Given the description of an element on the screen output the (x, y) to click on. 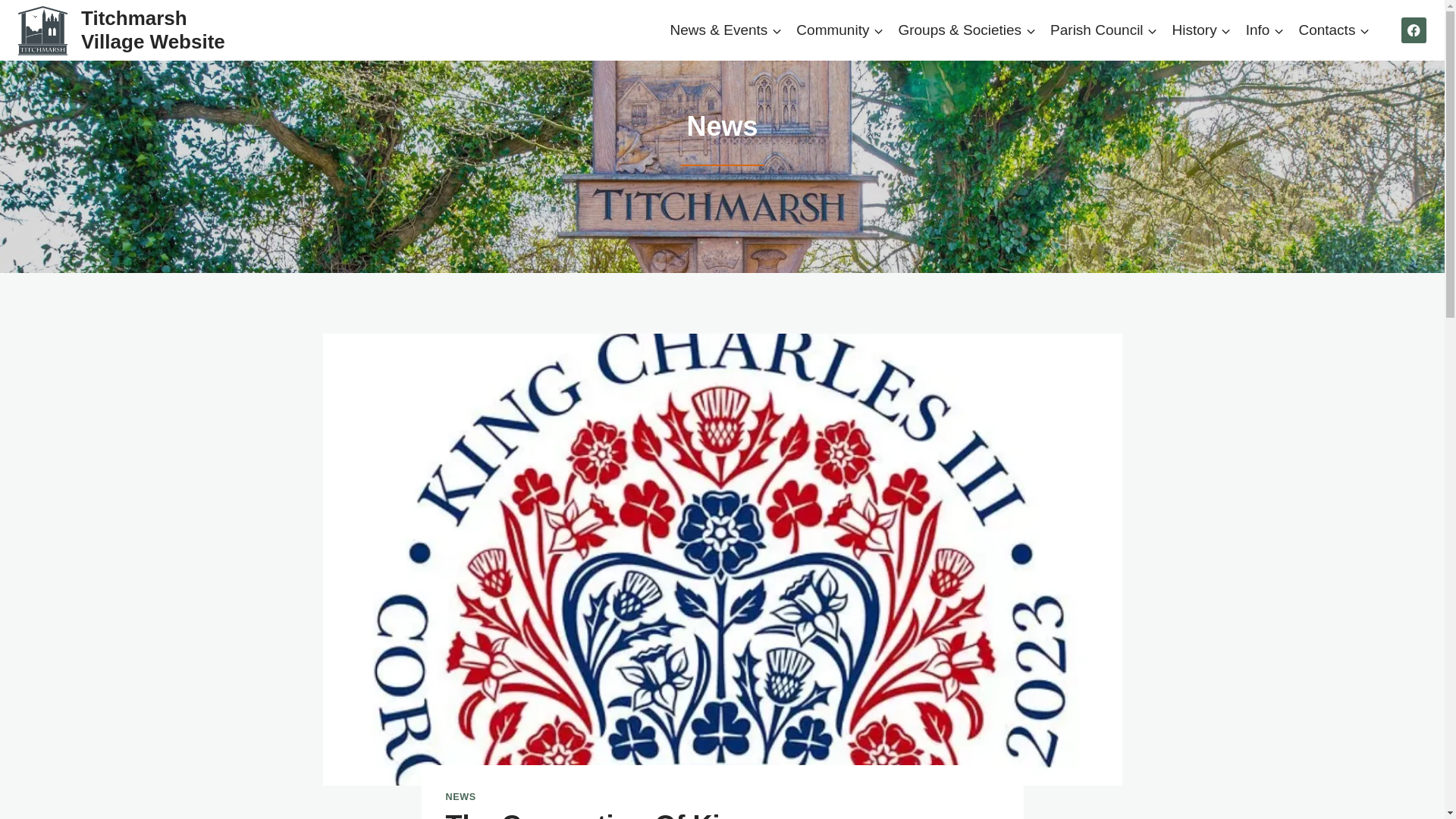
Titchmarsh Village Website (124, 30)
History (1201, 29)
Parish Council (1104, 29)
Community (840, 29)
